Given the description of an element on the screen output the (x, y) to click on. 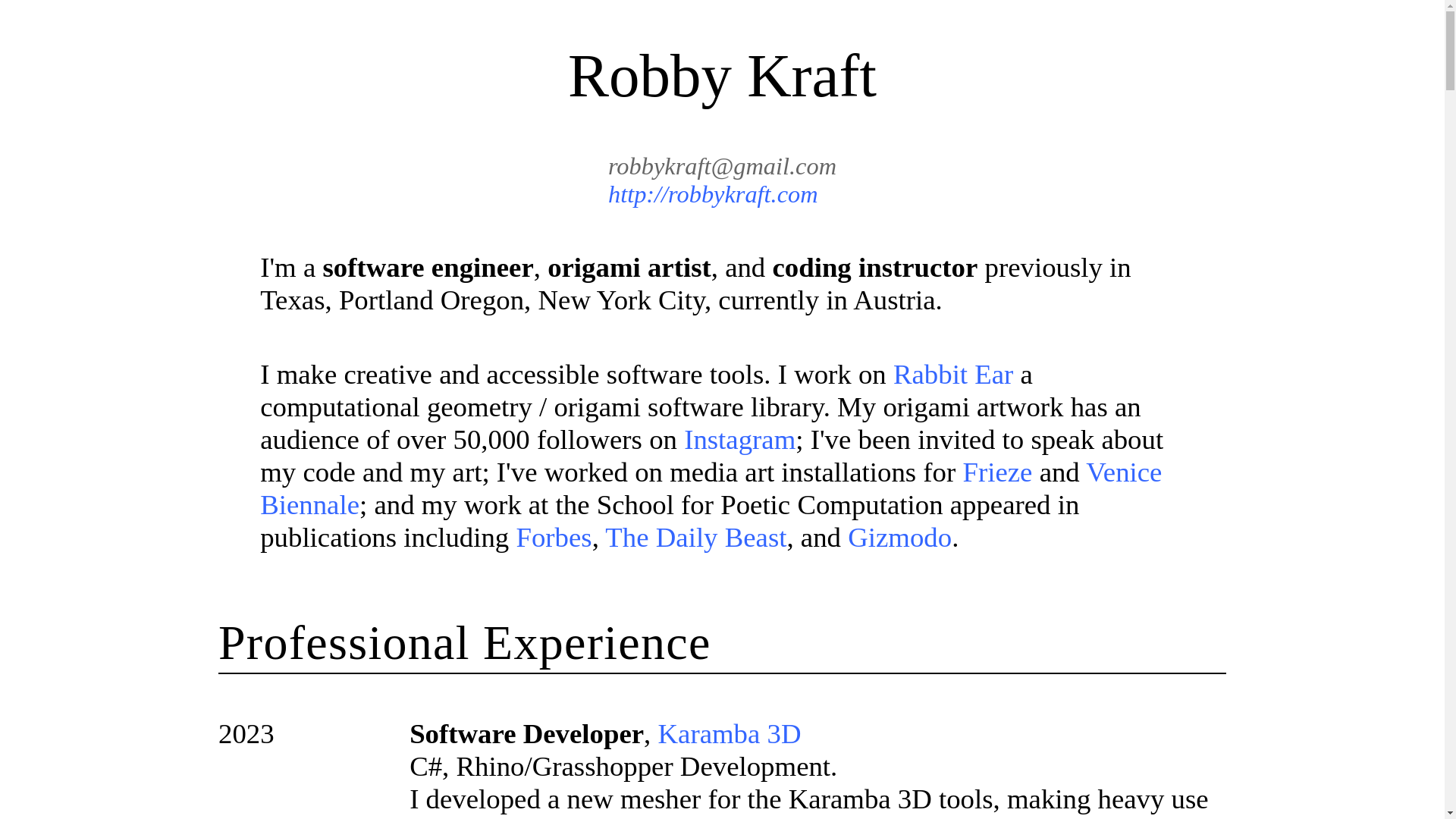
Gizmodo (899, 536)
Forbes (553, 536)
Instagram (739, 439)
The Daily Beast (695, 536)
Karamba 3D (730, 733)
